Given the description of an element on the screen output the (x, y) to click on. 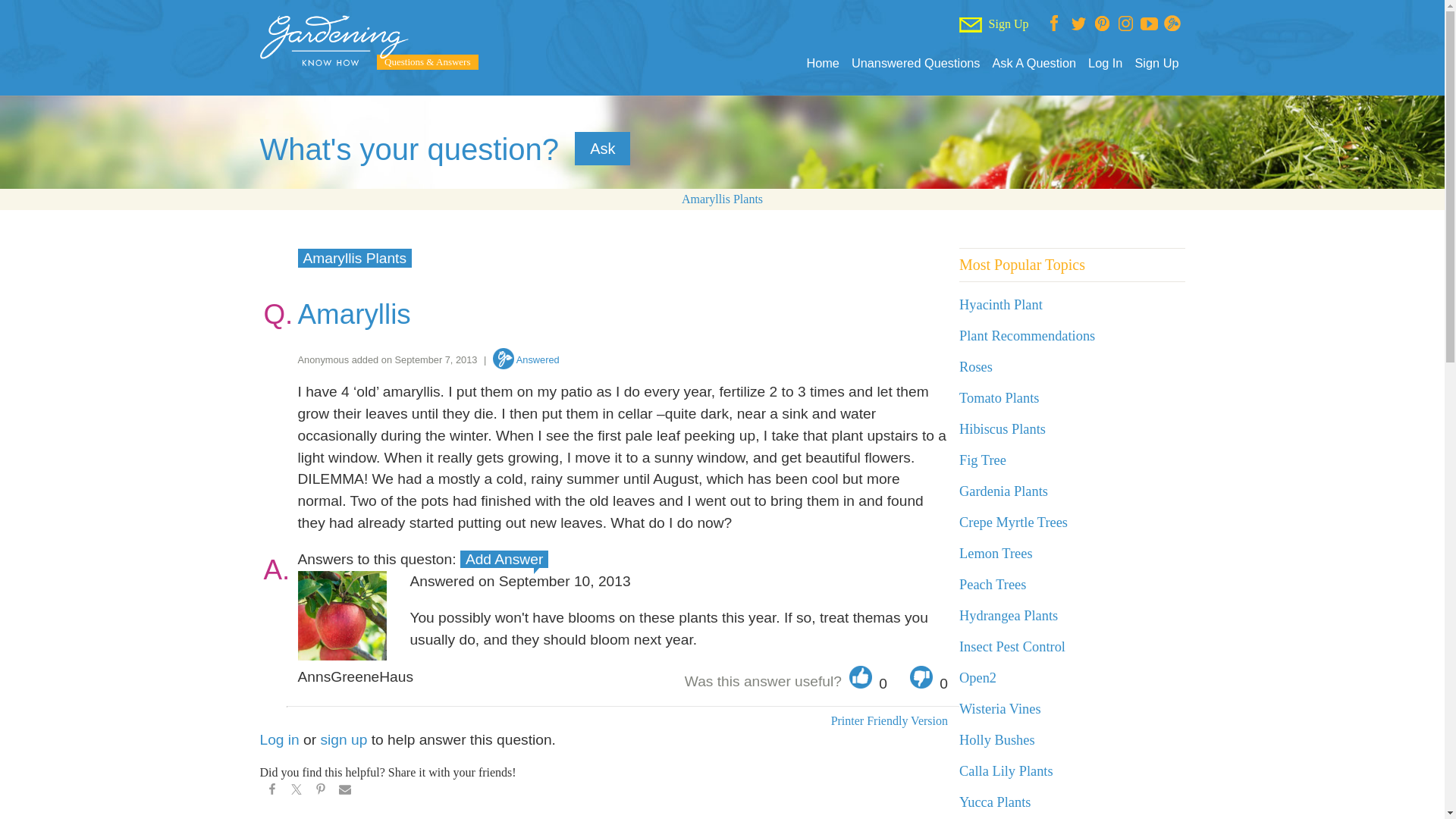
Printer Friendly Version (889, 720)
Fig Tree (982, 459)
Hydrangea Plants (1008, 615)
Printer Friendly Version (889, 720)
Home (822, 62)
Gardenia Plants (1003, 491)
Gardenia Plants (1003, 491)
Share on Pinterest (319, 791)
Hyacinth Plant (1000, 304)
Plant Recommendations (1026, 335)
Share on Facebook (271, 791)
Crepe Myrtle Trees (1013, 522)
Crepe Myrtle Trees (1013, 522)
Open2 (977, 677)
Plant Recommendations (1026, 335)
